Given the description of an element on the screen output the (x, y) to click on. 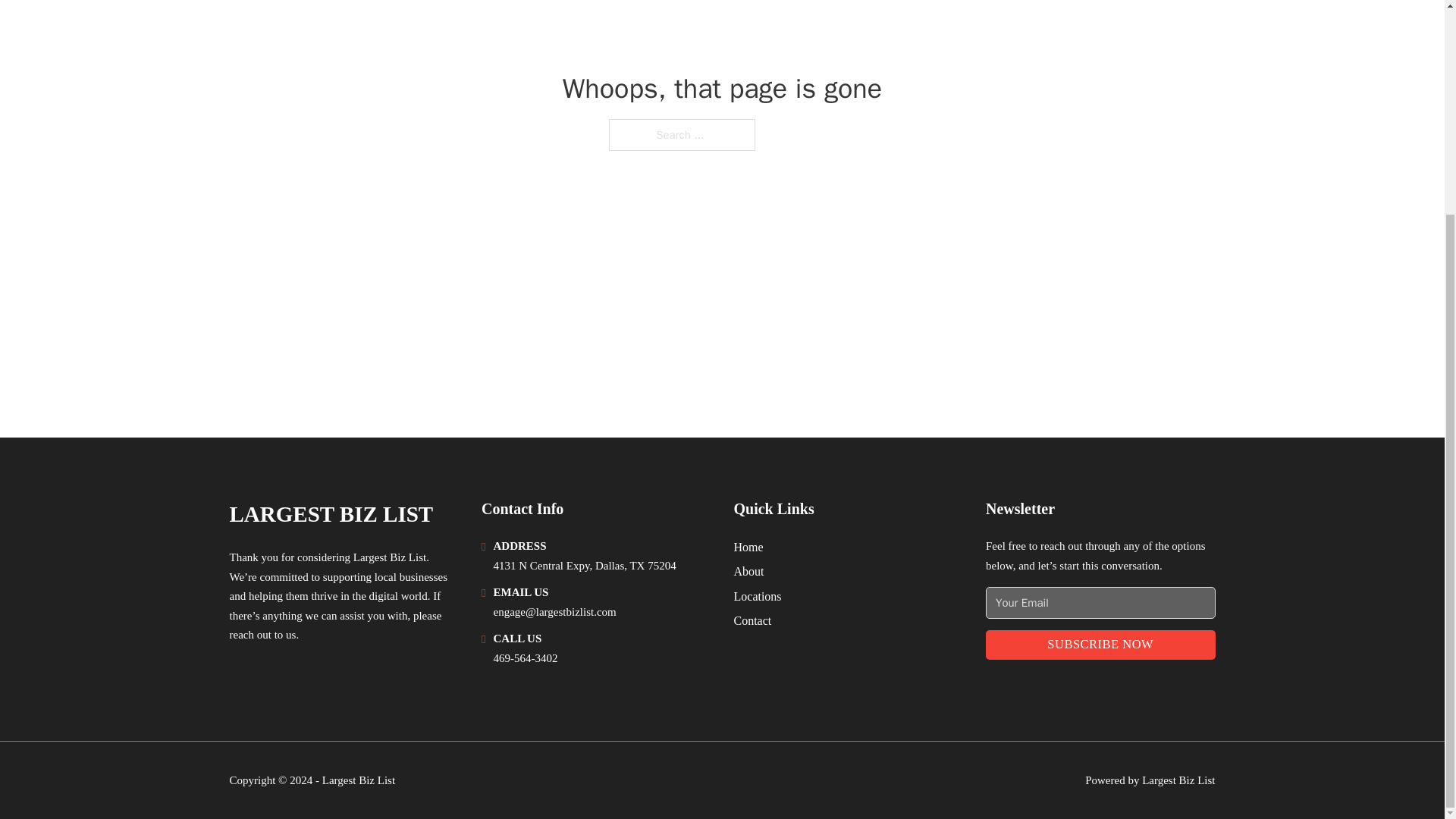
Locations (757, 596)
469-564-3402 (525, 657)
LARGEST BIZ LIST (330, 514)
SUBSCRIBE NOW (1100, 644)
Contact (752, 620)
Home (747, 547)
About (748, 571)
